Given the description of an element on the screen output the (x, y) to click on. 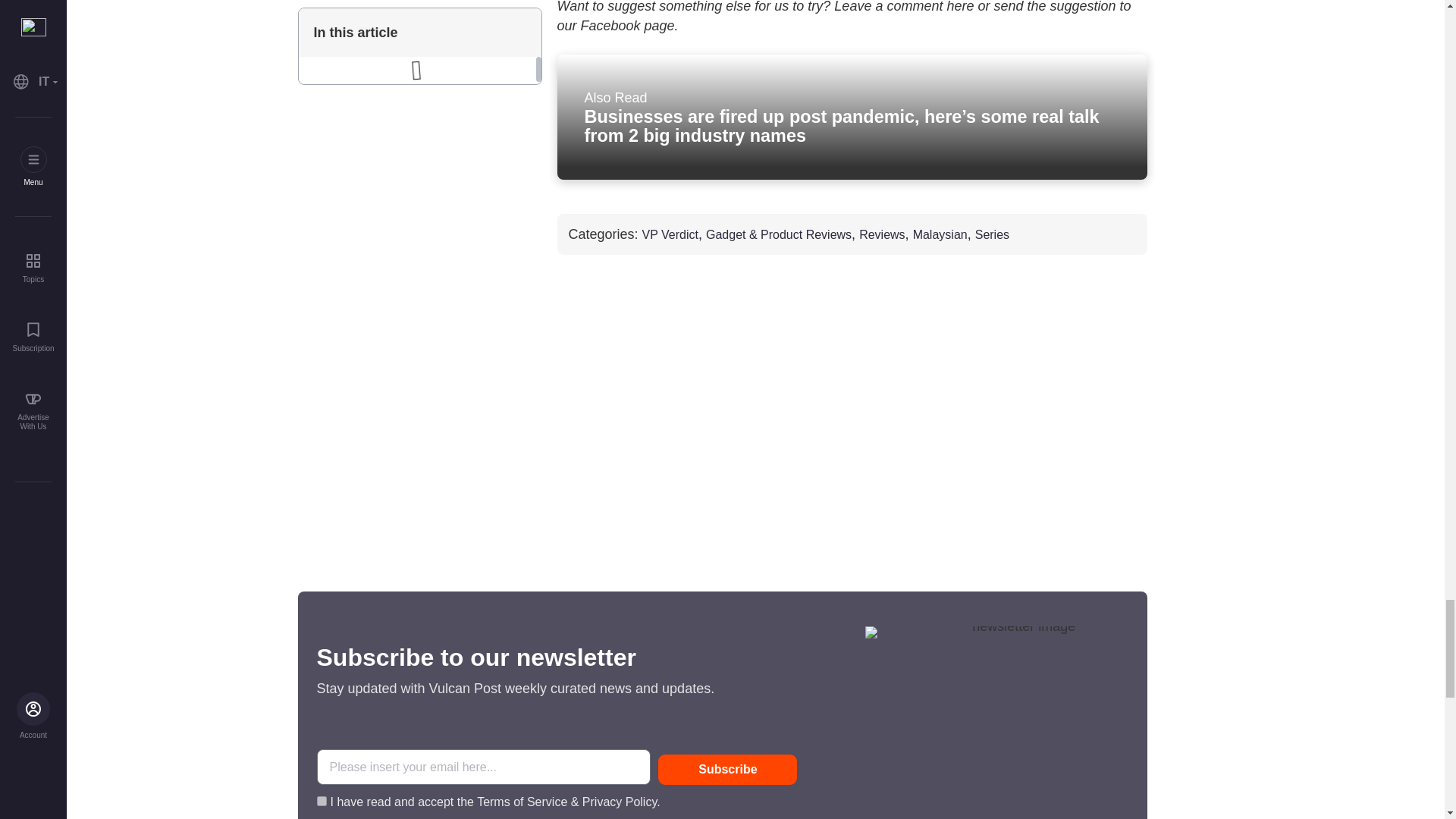
on (321, 800)
Reviews (881, 234)
VP Verdict (670, 234)
Subscribe (727, 769)
Series (992, 234)
Malaysian (940, 234)
